Given the description of an element on the screen output the (x, y) to click on. 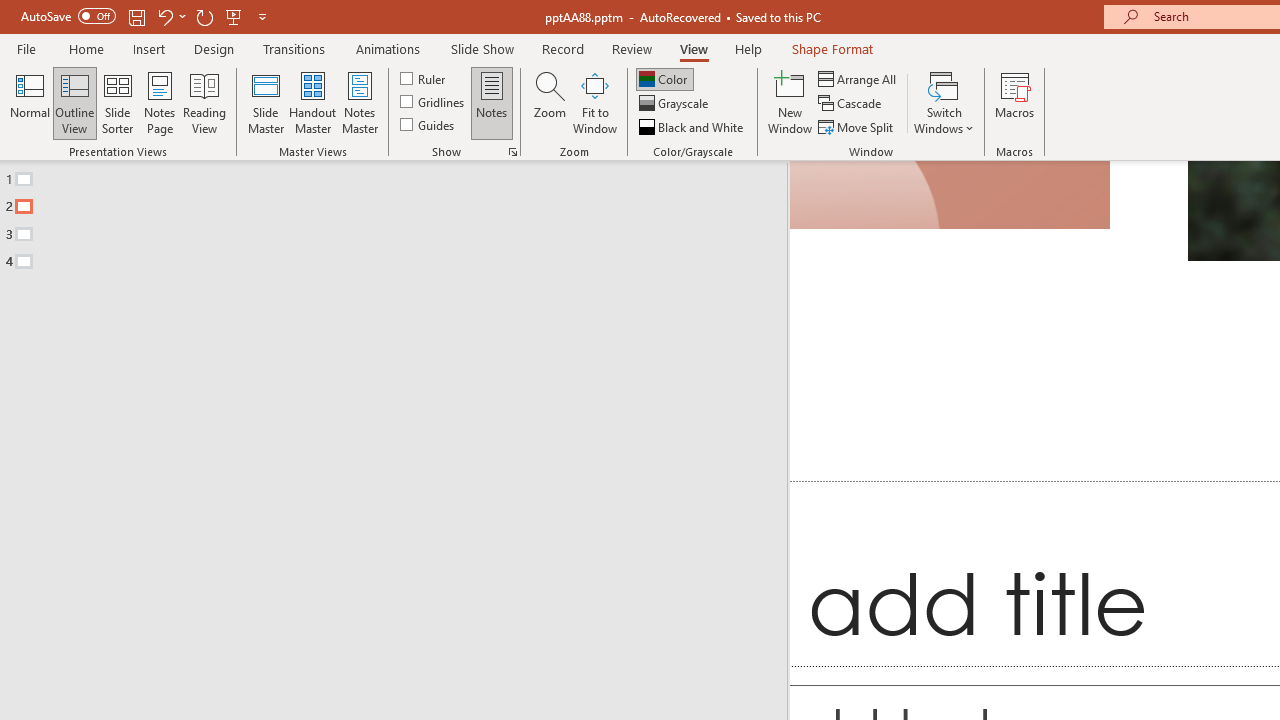
Arrange All (858, 78)
Zoom... (549, 102)
Macros (1014, 102)
Slide Master (265, 102)
